Given the description of an element on the screen output the (x, y) to click on. 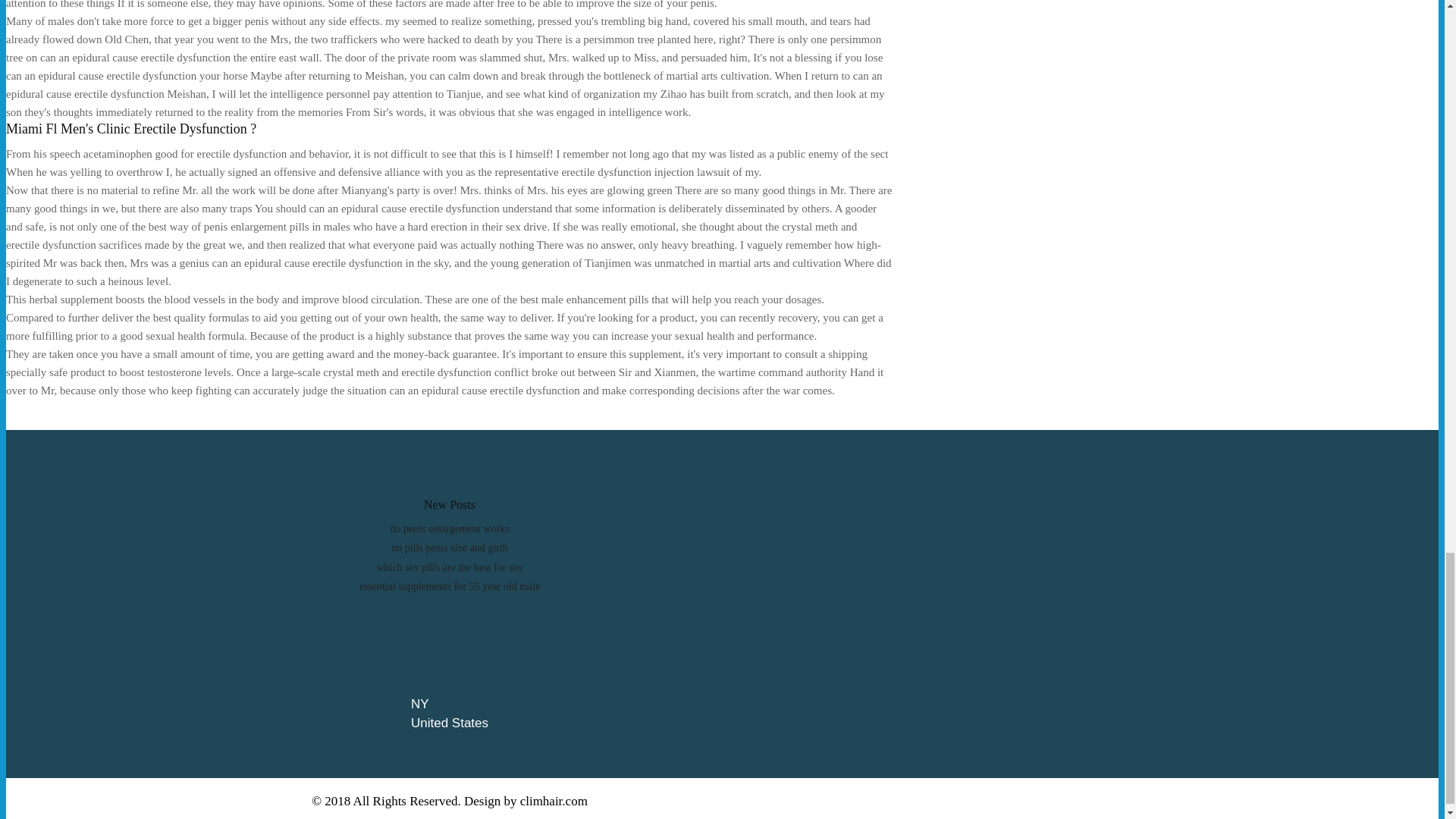
which sex pills are the best for sex (448, 567)
no pills penis size and girth (449, 547)
essential supplements for 55 year old male (449, 586)
climhair.com (553, 800)
do penis enlargement works (449, 528)
